Given the description of an element on the screen output the (x, y) to click on. 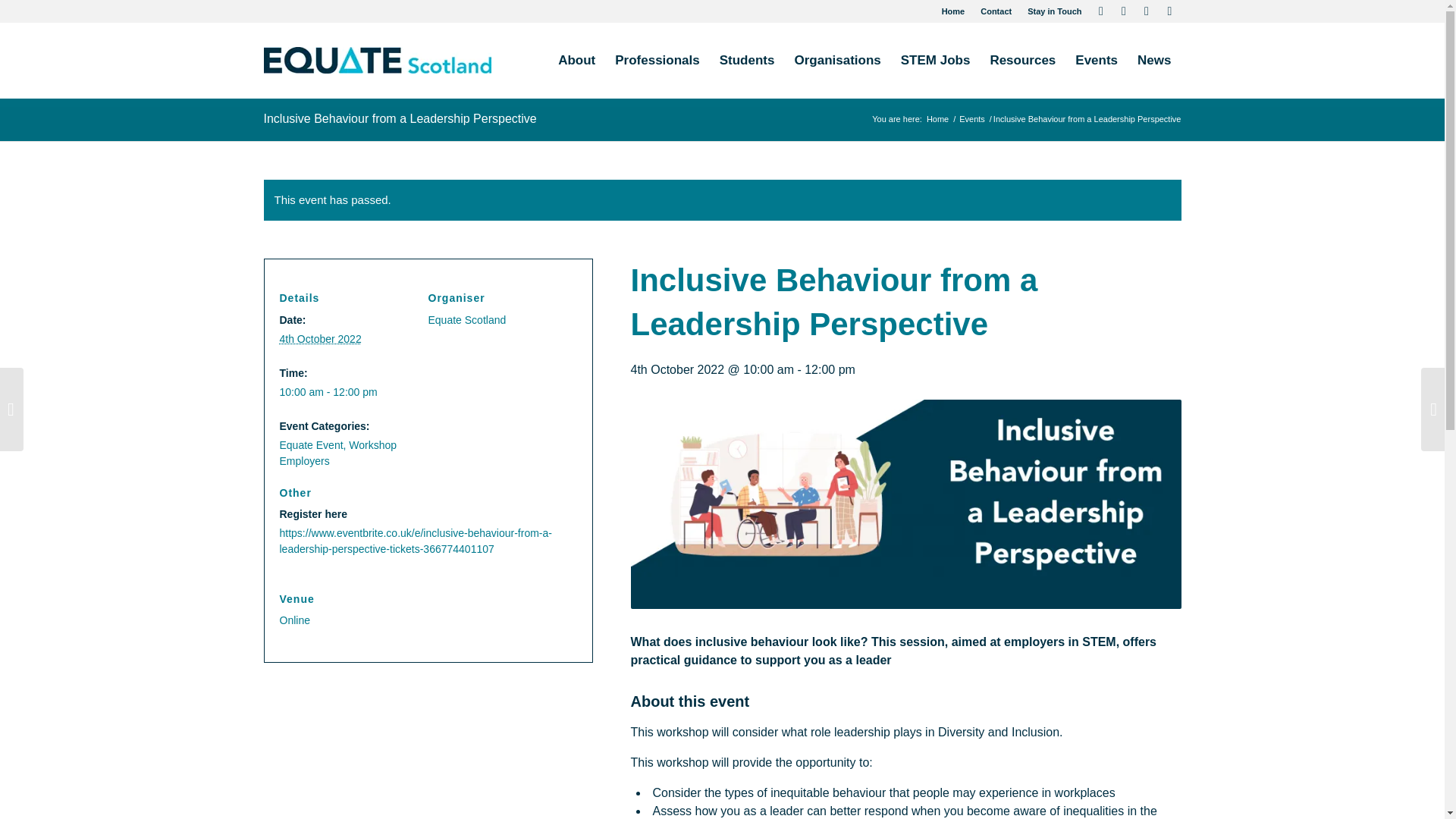
2022-10-04 (320, 338)
Home (953, 11)
Equate Scotland (937, 119)
logo (377, 60)
Organisations (836, 60)
Instagram (1169, 11)
Professionals (657, 60)
Resources (1022, 60)
Equate Scotland (466, 319)
Stay in Touch (1054, 11)
Twitter (1101, 11)
STEM Jobs (935, 60)
2022-10-04 (346, 392)
Contact (995, 11)
Students (747, 60)
